Given the description of an element on the screen output the (x, y) to click on. 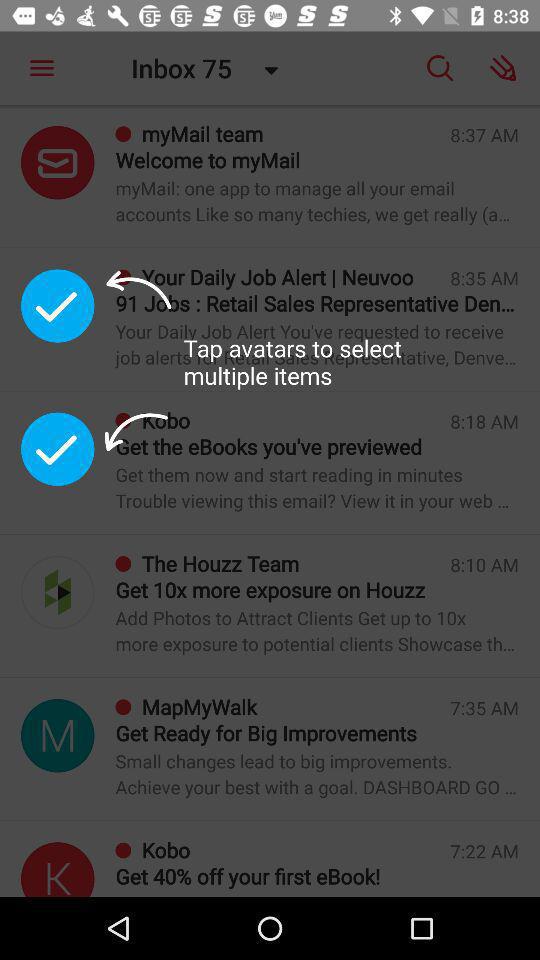
select one part of message (57, 449)
